Given the description of an element on the screen output the (x, y) to click on. 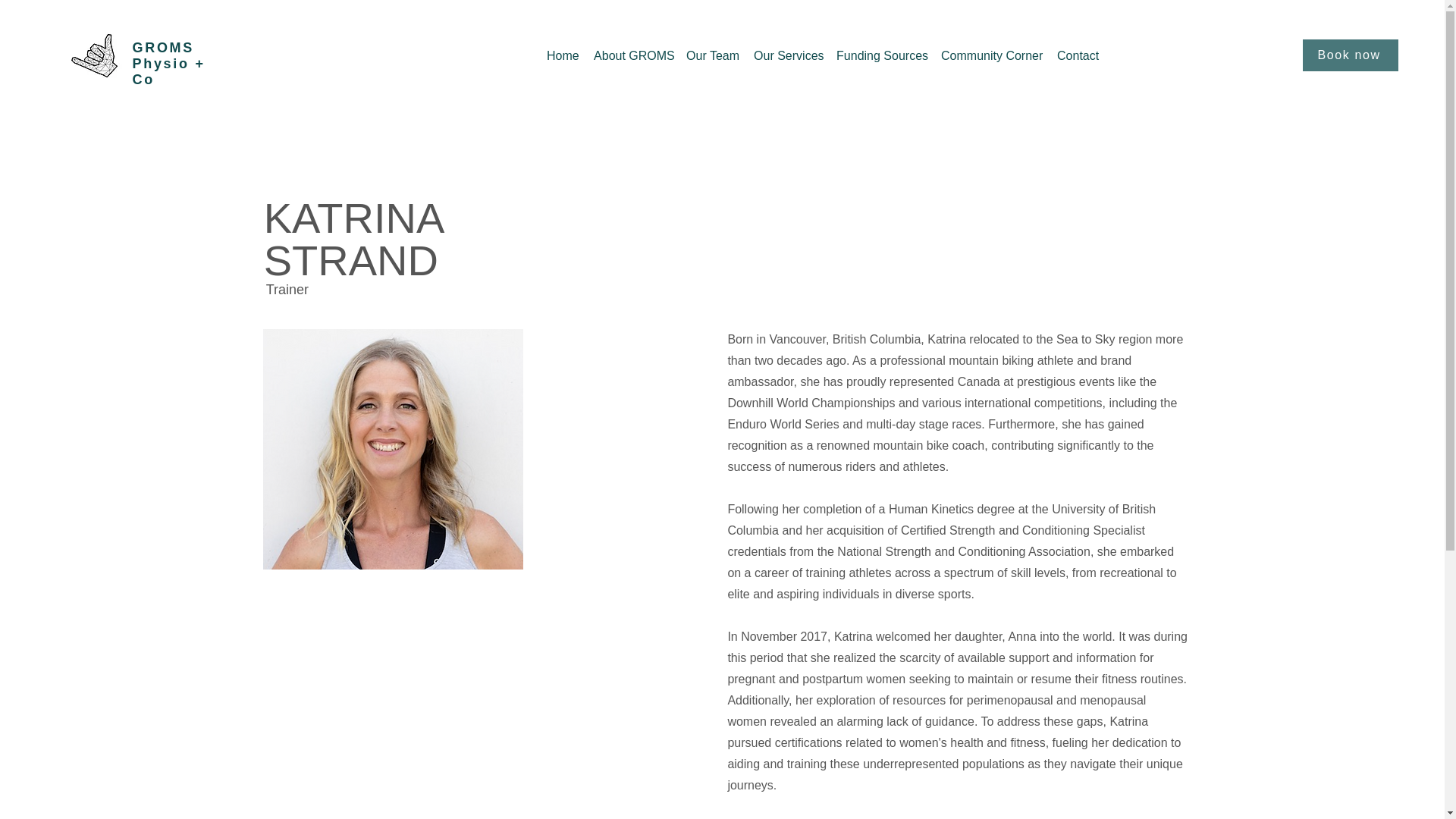
Book now (1350, 55)
Contact (1077, 56)
Home (562, 56)
About GROMS (632, 56)
Our Team (711, 56)
Our Services (786, 56)
Funding Sources (880, 56)
Community Corner (991, 56)
